Given the description of an element on the screen output the (x, y) to click on. 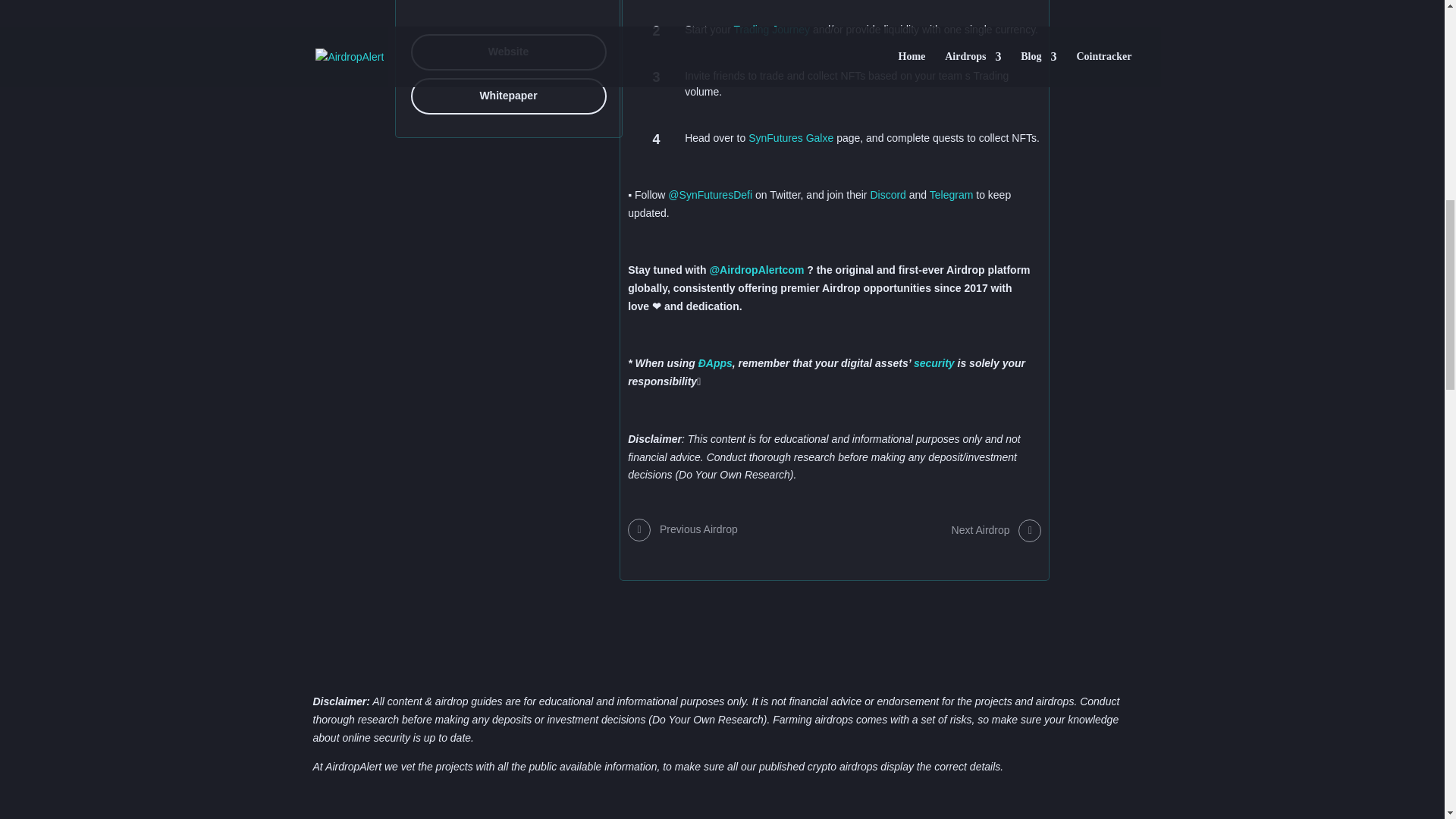
SynFutures Galxe (790, 137)
Previous Airdrop (682, 530)
security (934, 363)
Trading Journey (771, 29)
Discord (887, 194)
Website (508, 52)
Whitepaper (508, 95)
Telegram (952, 194)
